Given the description of an element on the screen output the (x, y) to click on. 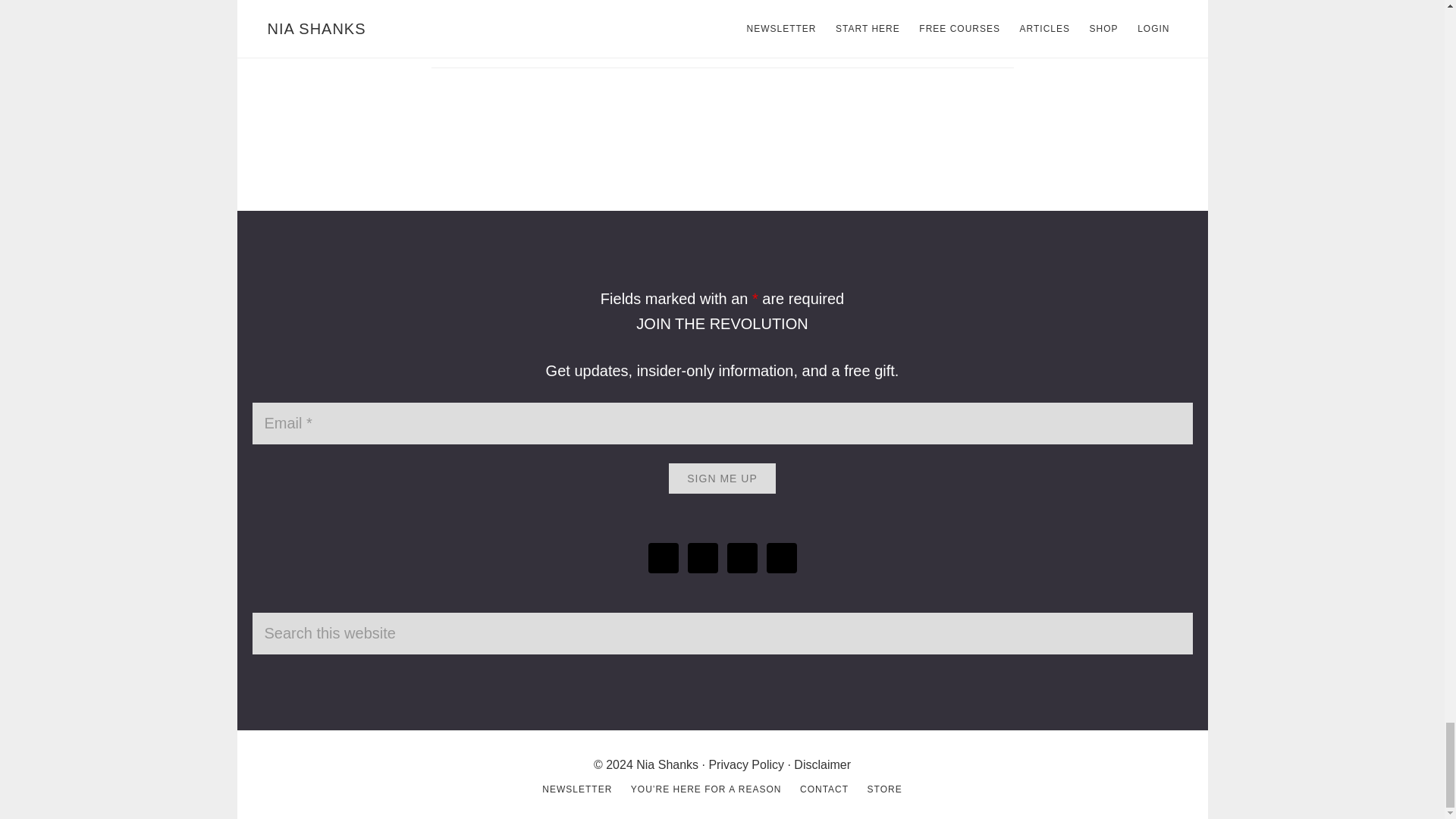
Sign Me Up (721, 478)
Subscribe (482, 12)
